Given the description of an element on the screen output the (x, y) to click on. 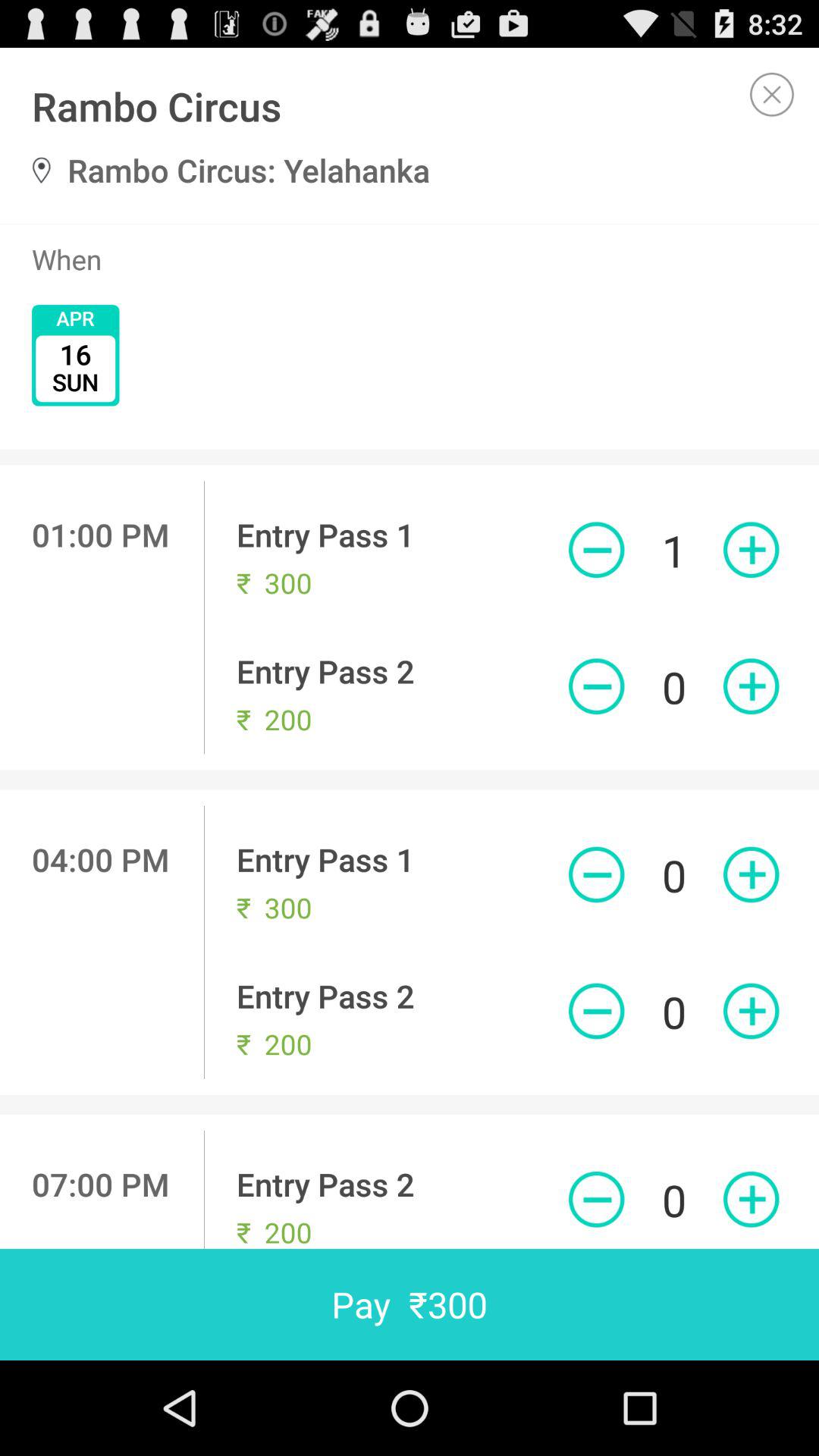
decrease (596, 1011)
